Given the description of an element on the screen output the (x, y) to click on. 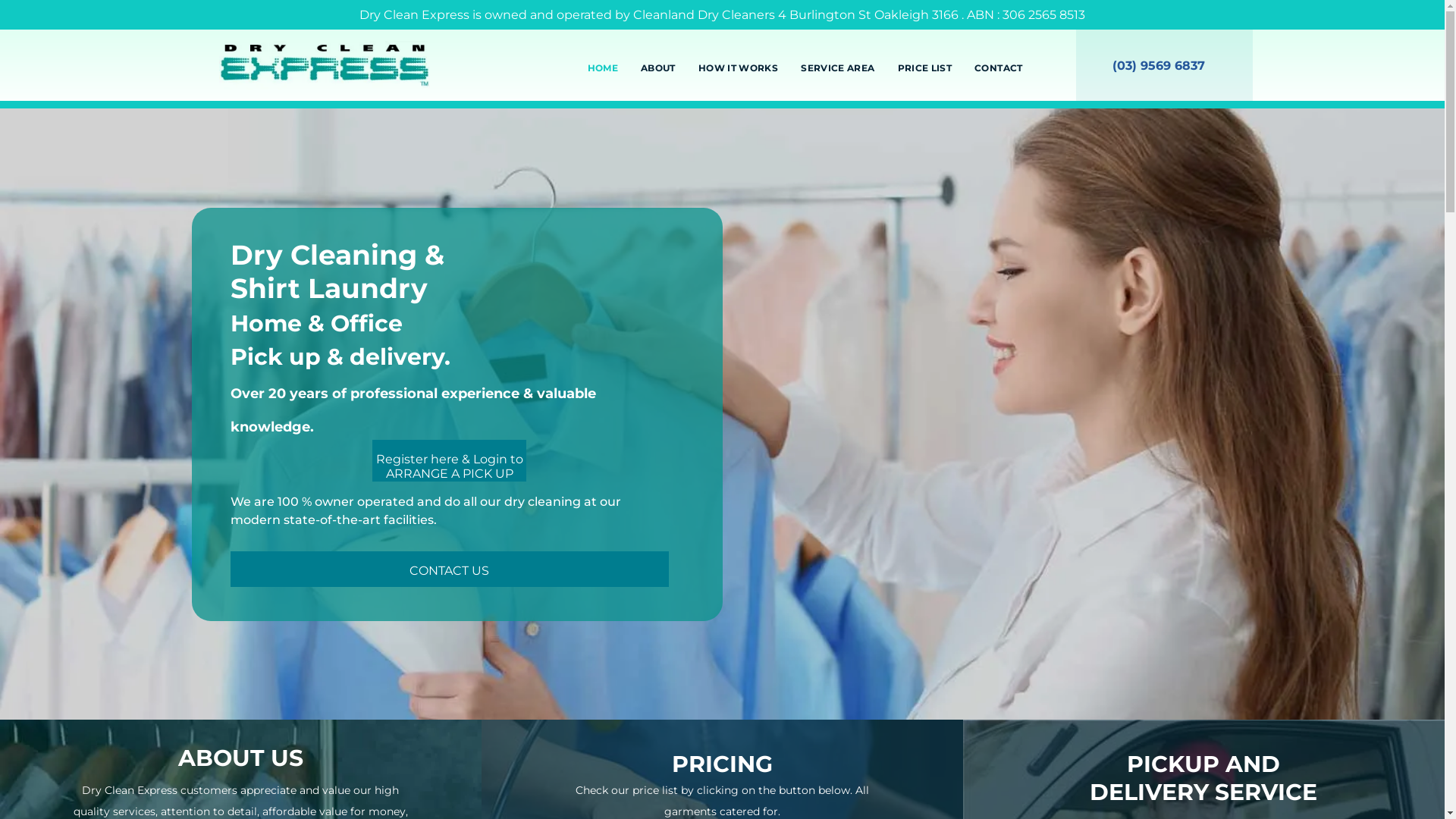
CONTACT Element type: text (998, 67)
PRICE LIST Element type: text (924, 67)
ABOUT Element type: text (658, 67)
Register here & Login to ARRANGE A PICK UP Element type: text (449, 460)
SERVICE AREA Element type: text (837, 67)
HOW IT WORKS Element type: text (738, 67)
CONTACT US Element type: text (449, 568)
HOME Element type: text (602, 67)
